Given the description of an element on the screen output the (x, y) to click on. 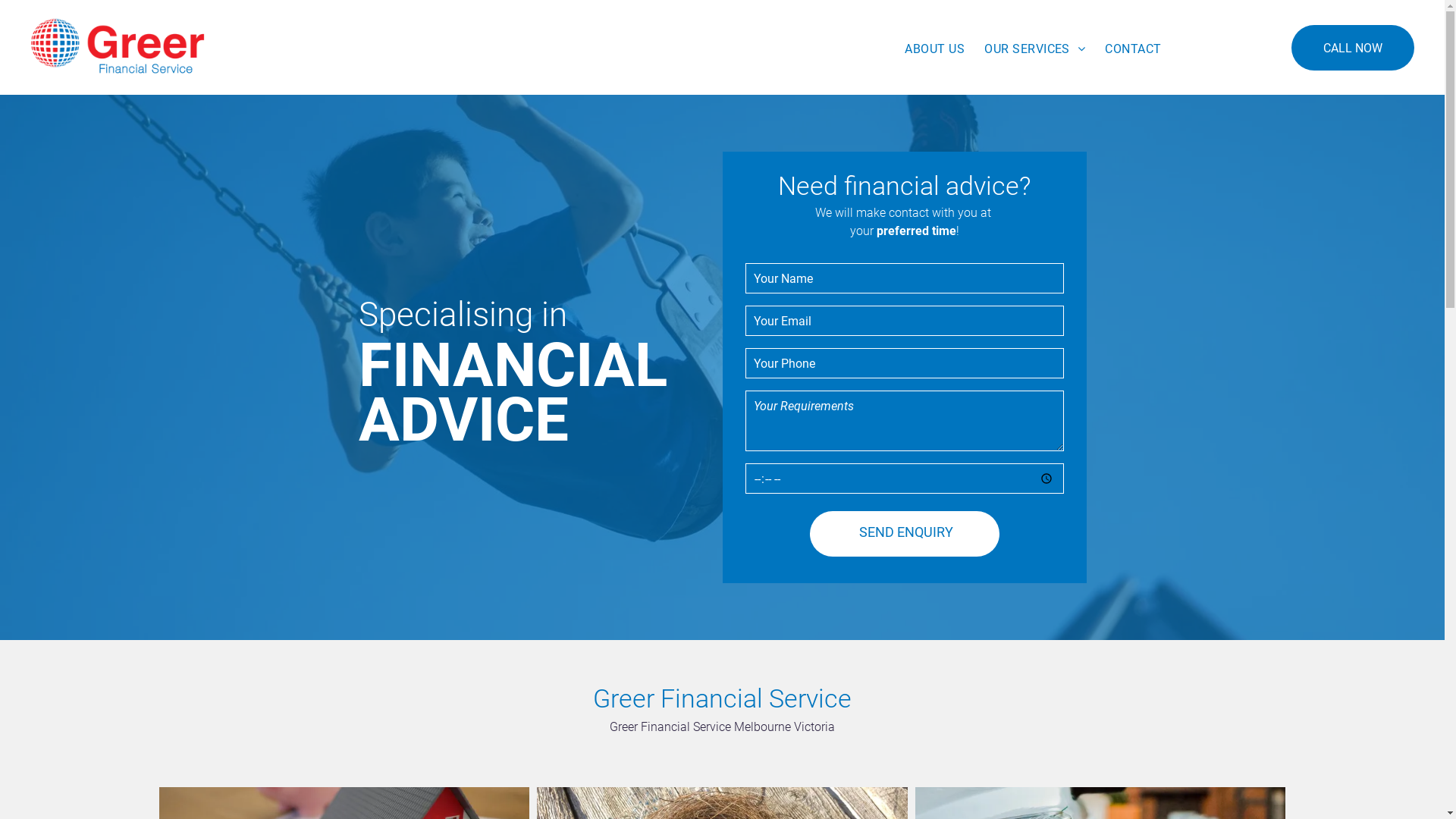
SEND ENQUIRY Element type: text (905, 531)
OUR SERVICES Element type: text (1034, 49)
CALL NOW Element type: text (1352, 47)
CONTACT Element type: text (1132, 49)
ABOUT US Element type: text (934, 49)
